Given the description of an element on the screen output the (x, y) to click on. 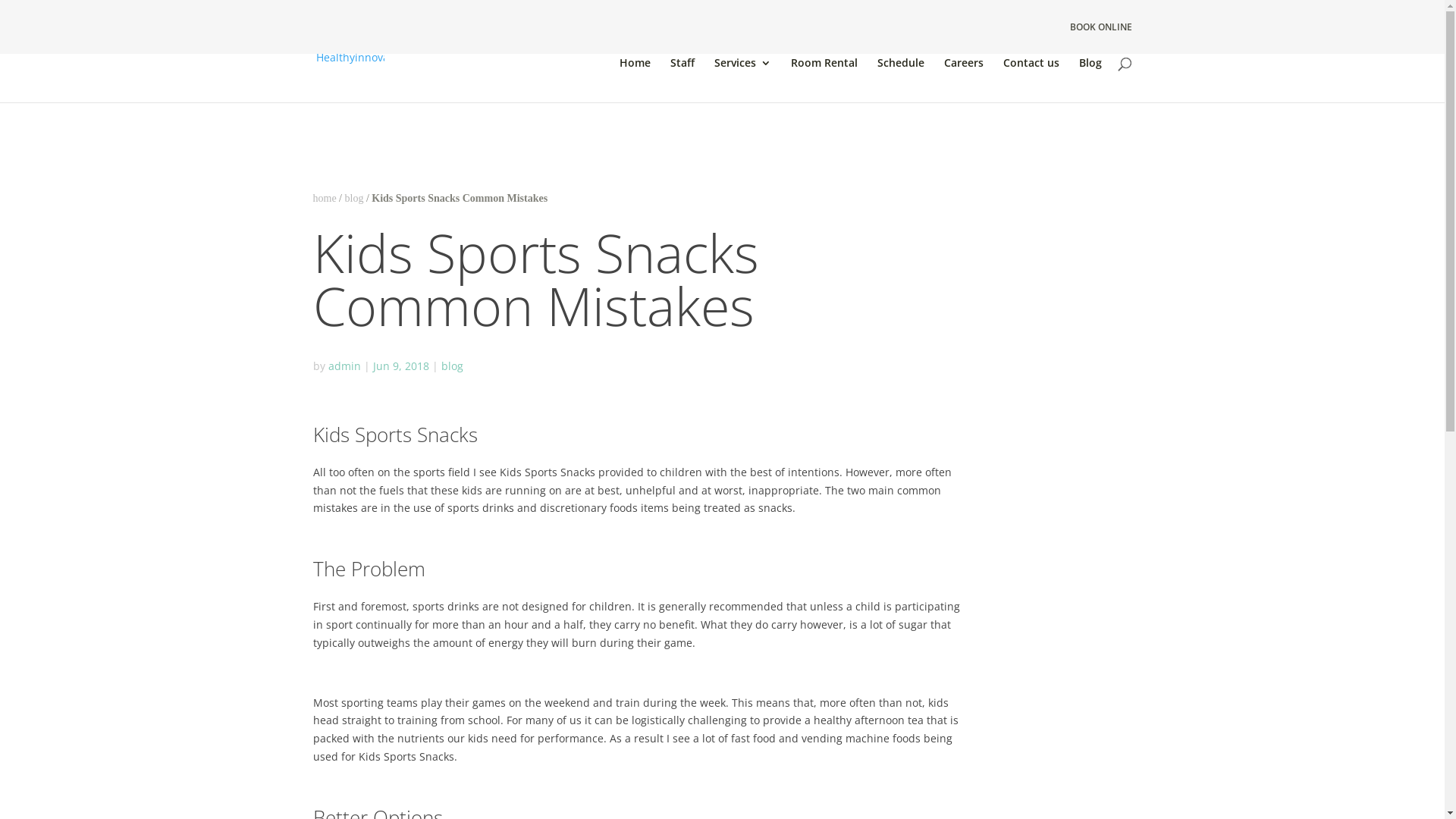
admin Element type: text (343, 365)
Blog Element type: text (1089, 75)
Careers Element type: text (962, 75)
Room Rental Element type: text (823, 75)
Home Element type: text (633, 75)
Staff Element type: text (682, 75)
blog Element type: text (459, 365)
Schedule Element type: text (899, 75)
blog Element type: text (353, 197)
Contact us Element type: text (1030, 75)
Services Element type: text (742, 75)
BOOK ONLINE Element type: text (1100, 26)
home Element type: text (323, 197)
